Given the description of an element on the screen output the (x, y) to click on. 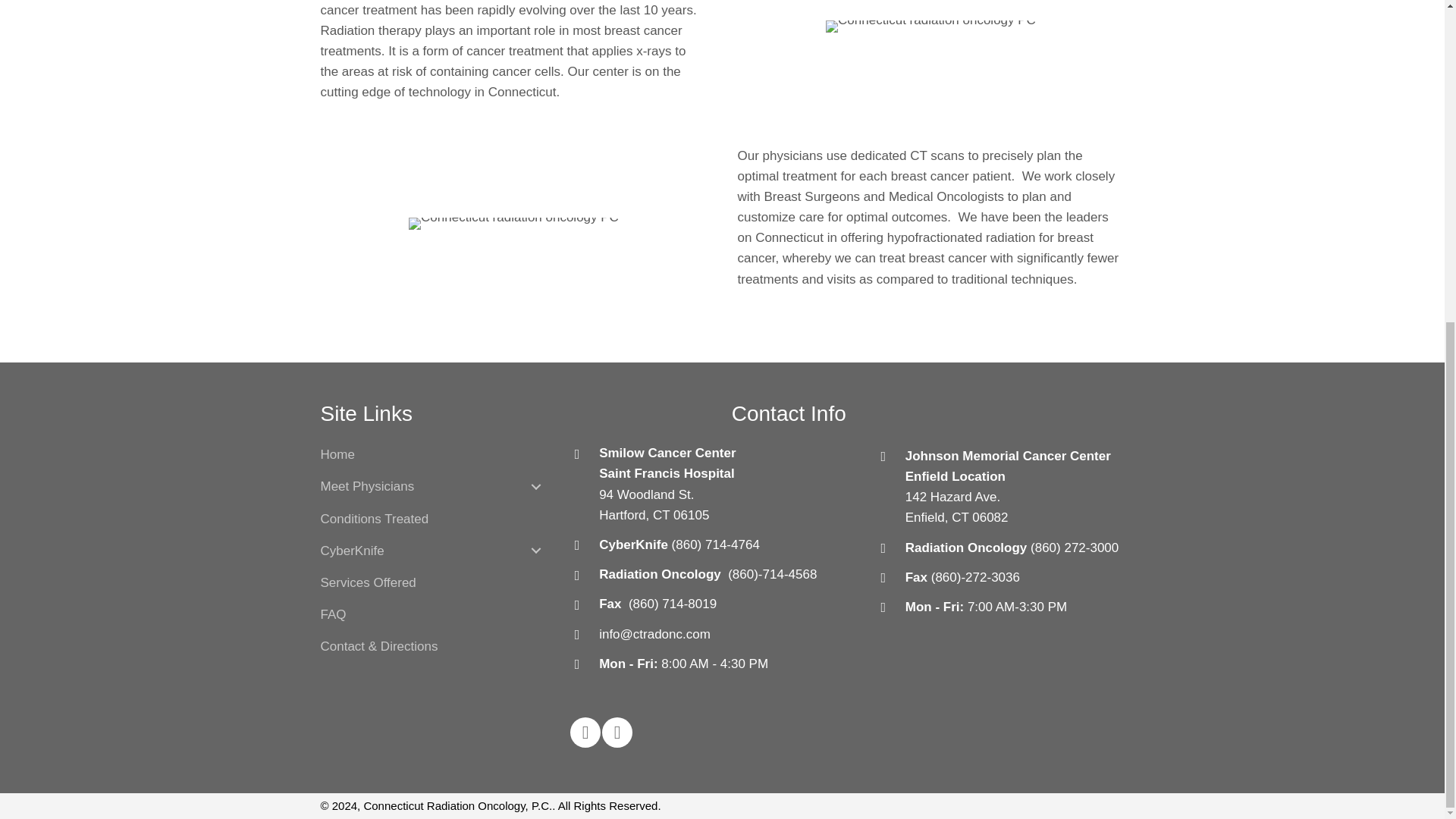
Conditions Treated (374, 518)
Connecticut radiation oncology PC (513, 223)
CyberKnife (357, 550)
Facebook (584, 732)
Home (336, 454)
Meet Physicians (372, 486)
Connecticut radiation oncology PC (930, 26)
Instagram (616, 732)
